Given the description of an element on the screen output the (x, y) to click on. 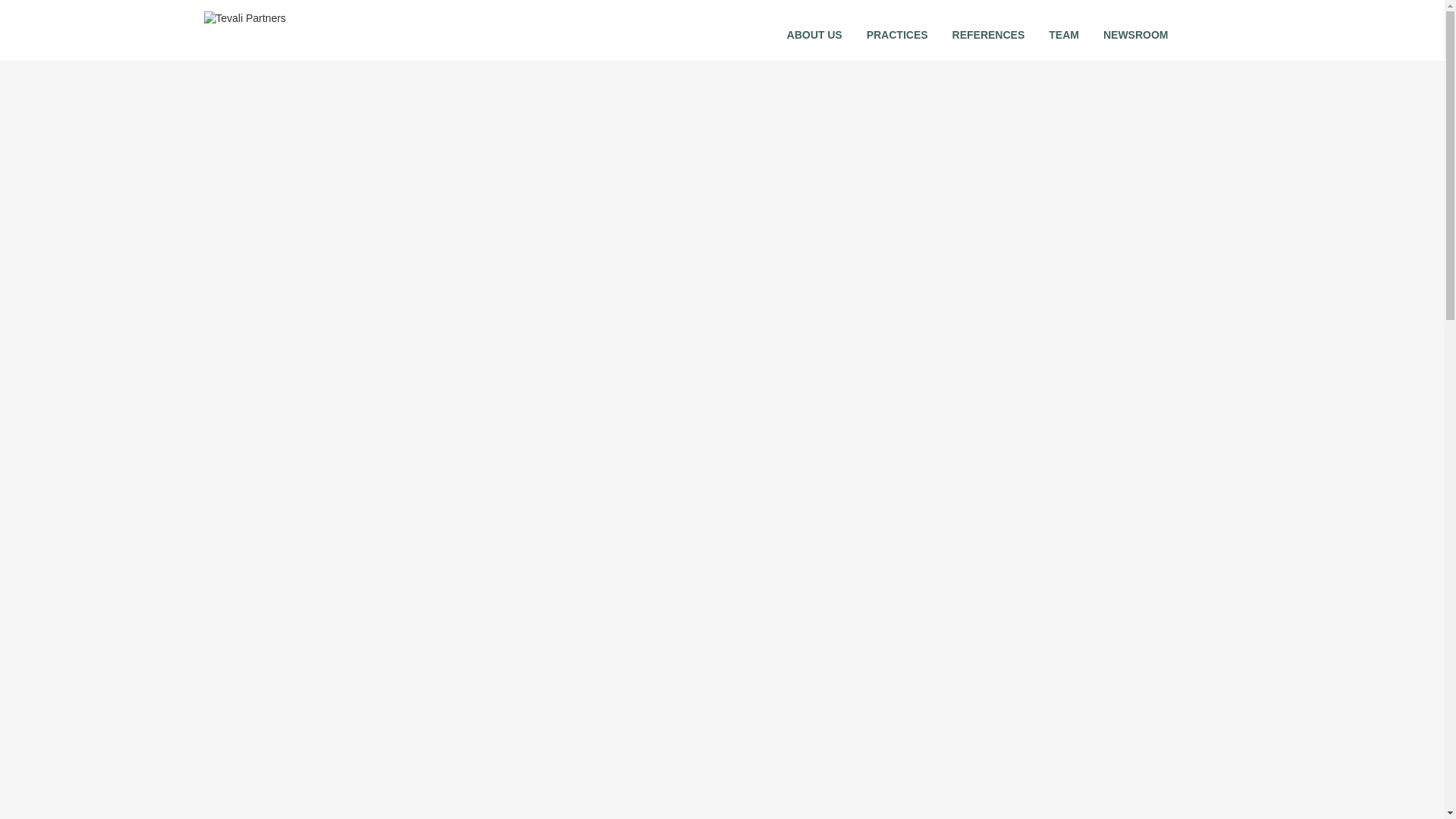
PRACTICES (897, 27)
Tevali Partners (287, 35)
NEWSROOM (1136, 27)
TEAM (1063, 27)
ABOUT US (815, 27)
REFERENCES (988, 27)
